Given the description of an element on the screen output the (x, y) to click on. 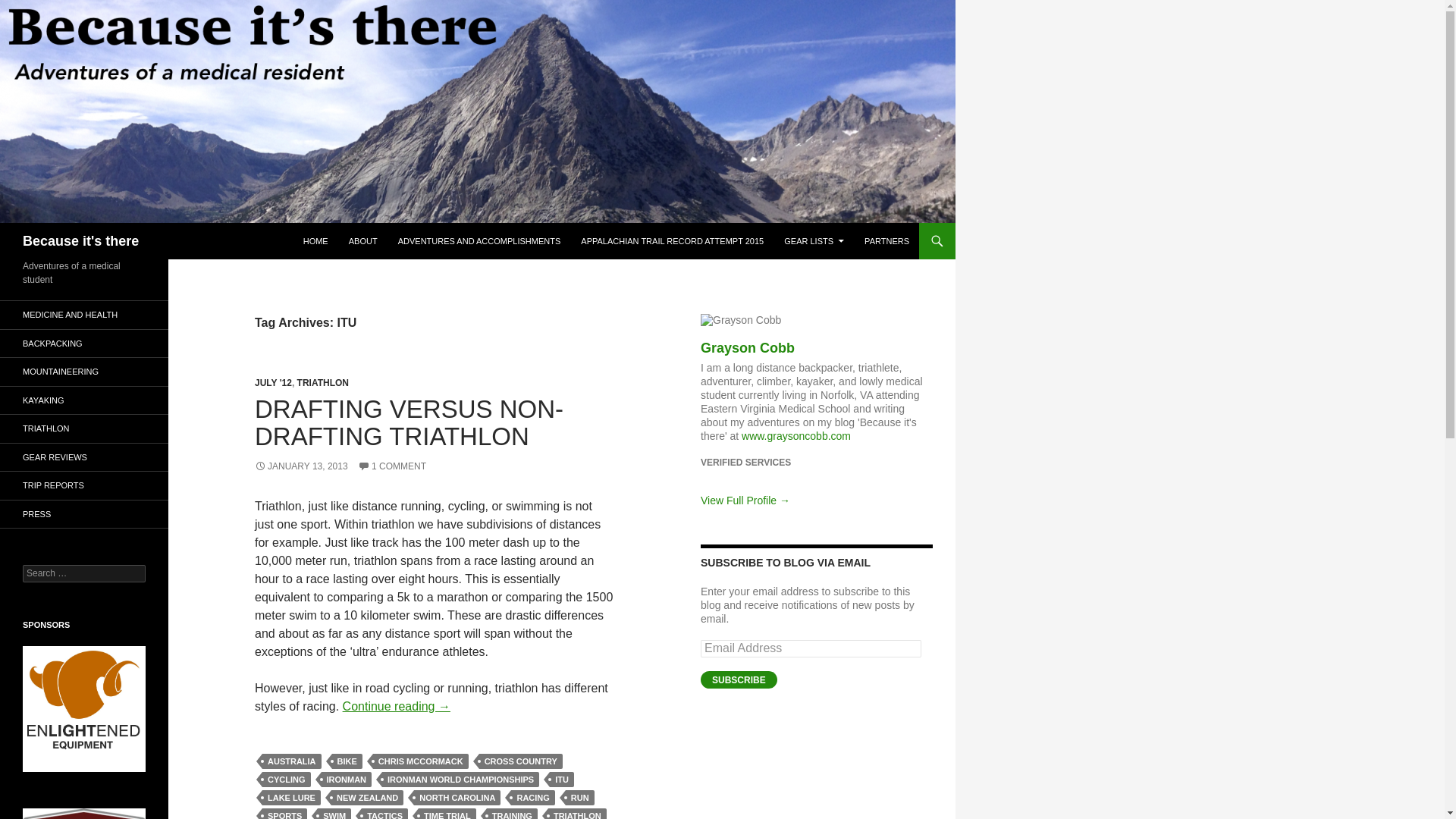
HOME (315, 240)
IRONMAN (346, 779)
NEW ZEALAND (367, 797)
CYCLING (286, 779)
SWIM (333, 813)
NORTH CAROLINA (456, 797)
LAKE LURE (291, 797)
JULY '12 (273, 382)
CHRIS MCCORMACK (420, 761)
IRONMAN WORLD CHAMPIONSHIPS (459, 779)
APPALACHIAN TRAIL RECORD ATTEMPT 2015 (672, 240)
SPORTS (284, 813)
RACING (532, 797)
DRAFTING VERSUS NON-DRAFTING TRIATHLON (408, 422)
